Given the description of an element on the screen output the (x, y) to click on. 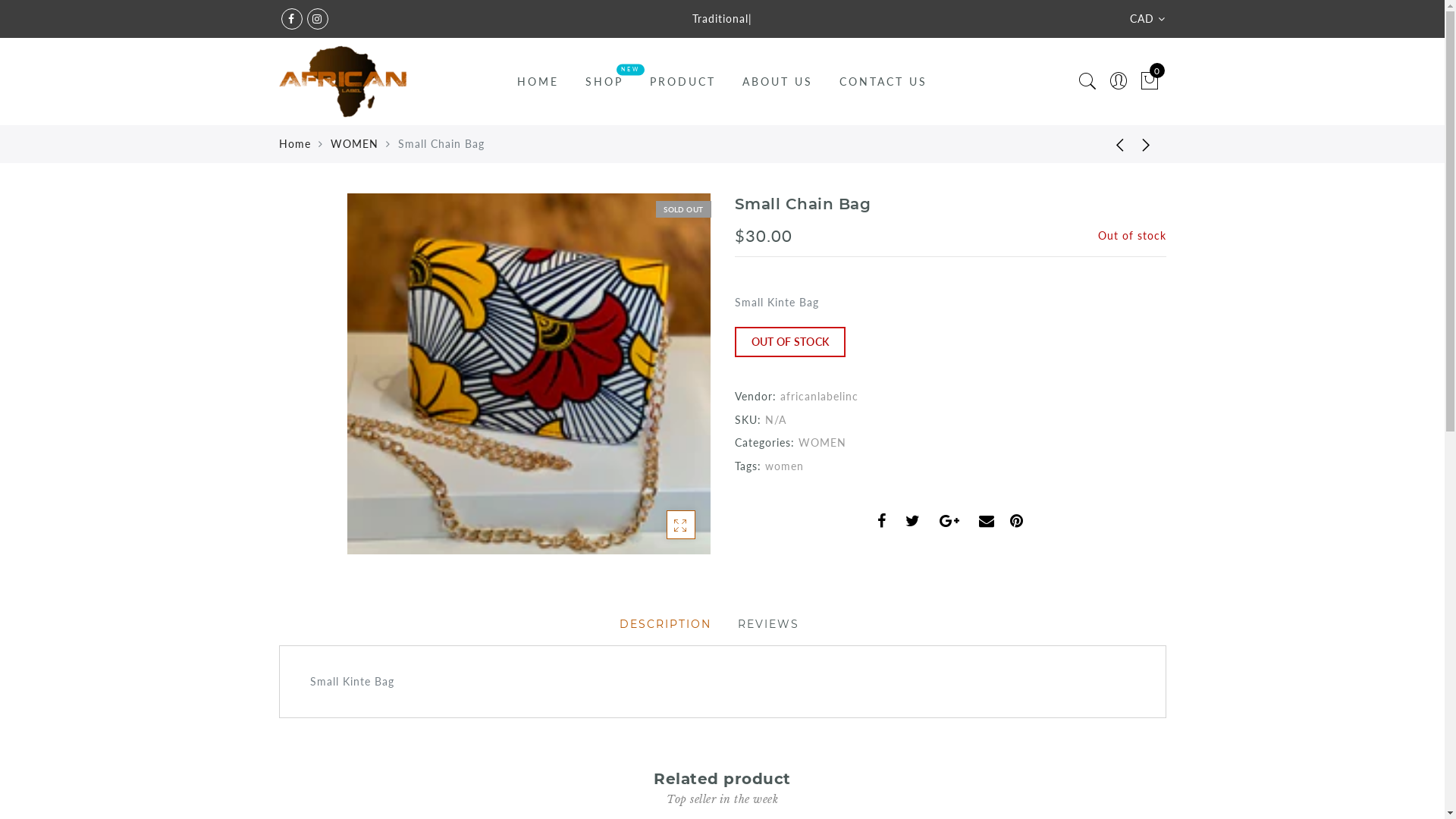
WOMEN Element type: text (821, 442)
women Element type: text (783, 465)
Next product Element type: text (1147, 143)
PRODUCT Element type: text (682, 81)
ABOUT US Element type: text (777, 81)
africanlabelinc Element type: text (818, 395)
CONTACT US Element type: text (883, 81)
HOME Element type: text (537, 81)
REVIEWS Element type: text (767, 623)
WOMEN Element type: text (354, 143)
DESCRIPTION Element type: text (664, 623)
Previous product Element type: text (1109, 143)
Home Element type: text (294, 143)
0 Element type: text (1150, 81)
SHOP
NEW Element type: text (604, 81)
